Given the description of an element on the screen output the (x, y) to click on. 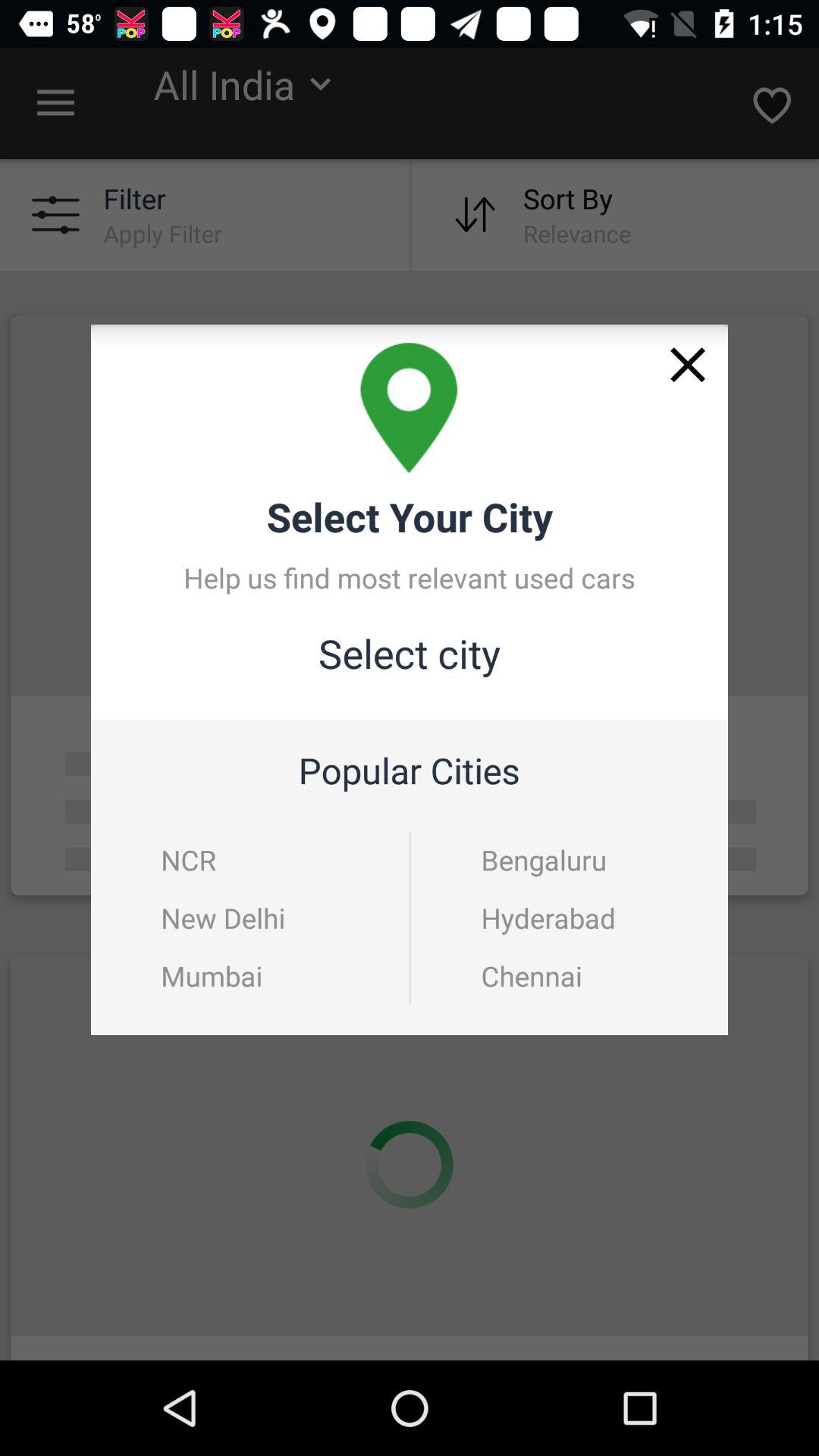
press the item at the bottom left corner (211, 975)
